Given the description of an element on the screen output the (x, y) to click on. 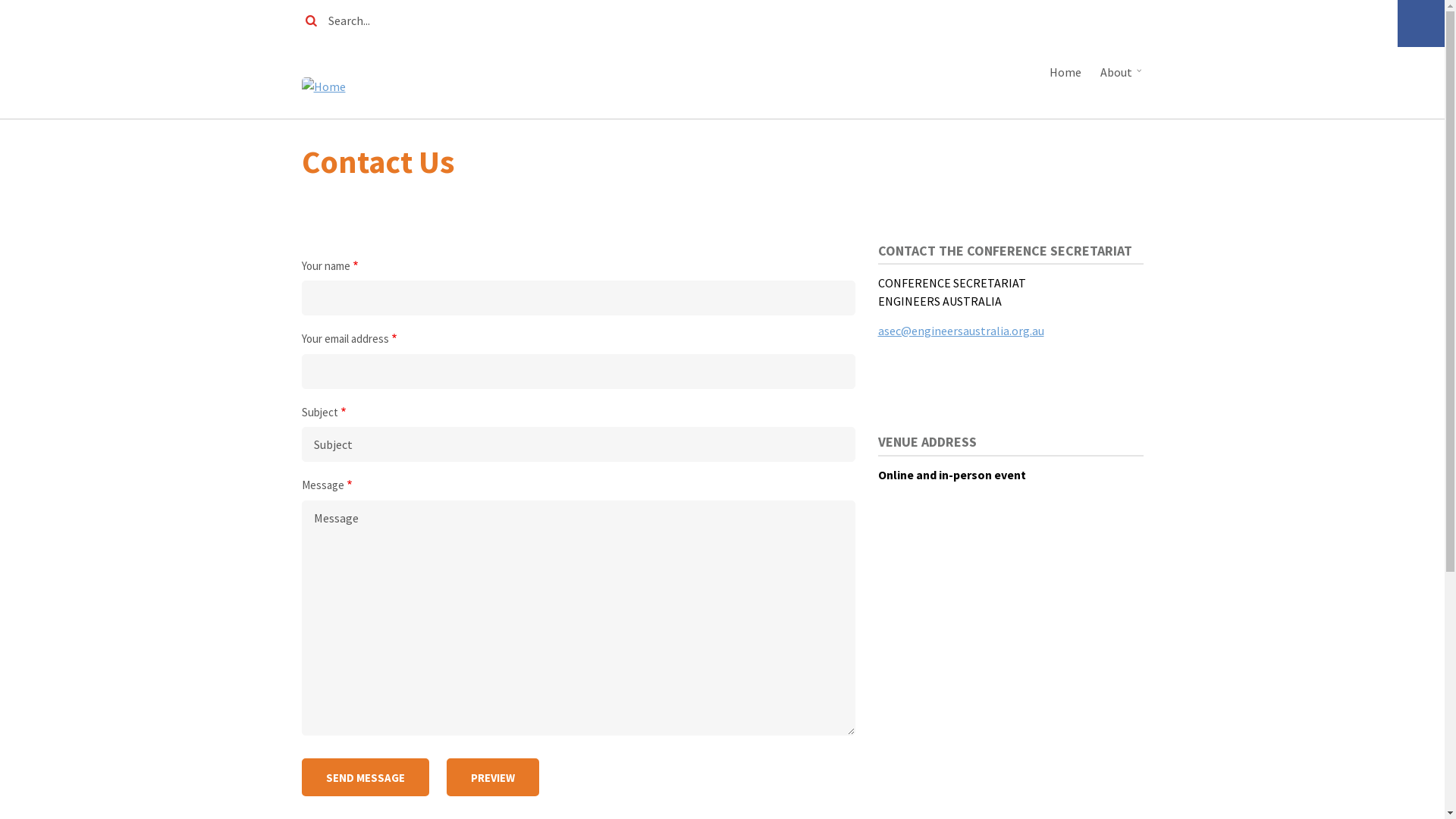
Preview Element type: text (491, 777)
Home Element type: text (1066, 71)
Send message Element type: text (365, 777)
facebook Element type: text (972, 18)
asec@engineersaustralia.org.au Element type: text (961, 330)
twitter Element type: text (1010, 18)
youtube Element type: text (1124, 18)
instagram Element type: text (1048, 18)
Skip to main content Element type: text (0, 0)
Enter the terms you wish to search for. Element type: hover (626, 20)
linkedin Element type: text (1086, 18)
Home Element type: hover (323, 84)
Search Element type: text (316, 20)
